Given the description of an element on the screen output the (x, y) to click on. 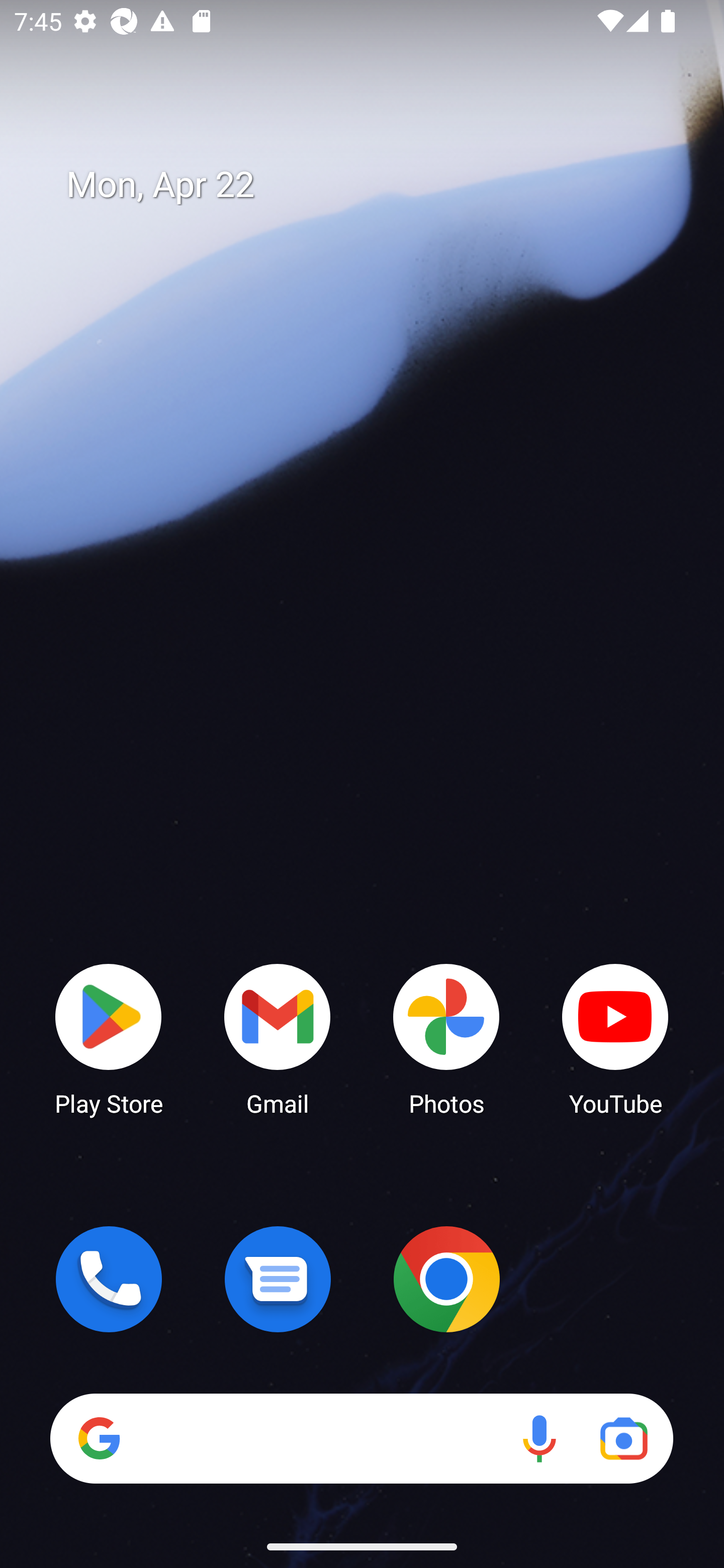
Mon, Apr 22 (375, 184)
Play Store (108, 1038)
Gmail (277, 1038)
Photos (445, 1038)
YouTube (615, 1038)
Phone (108, 1279)
Messages (277, 1279)
Chrome (446, 1279)
Search Voice search Google Lens (361, 1438)
Voice search (539, 1438)
Google Lens (623, 1438)
